Given the description of an element on the screen output the (x, y) to click on. 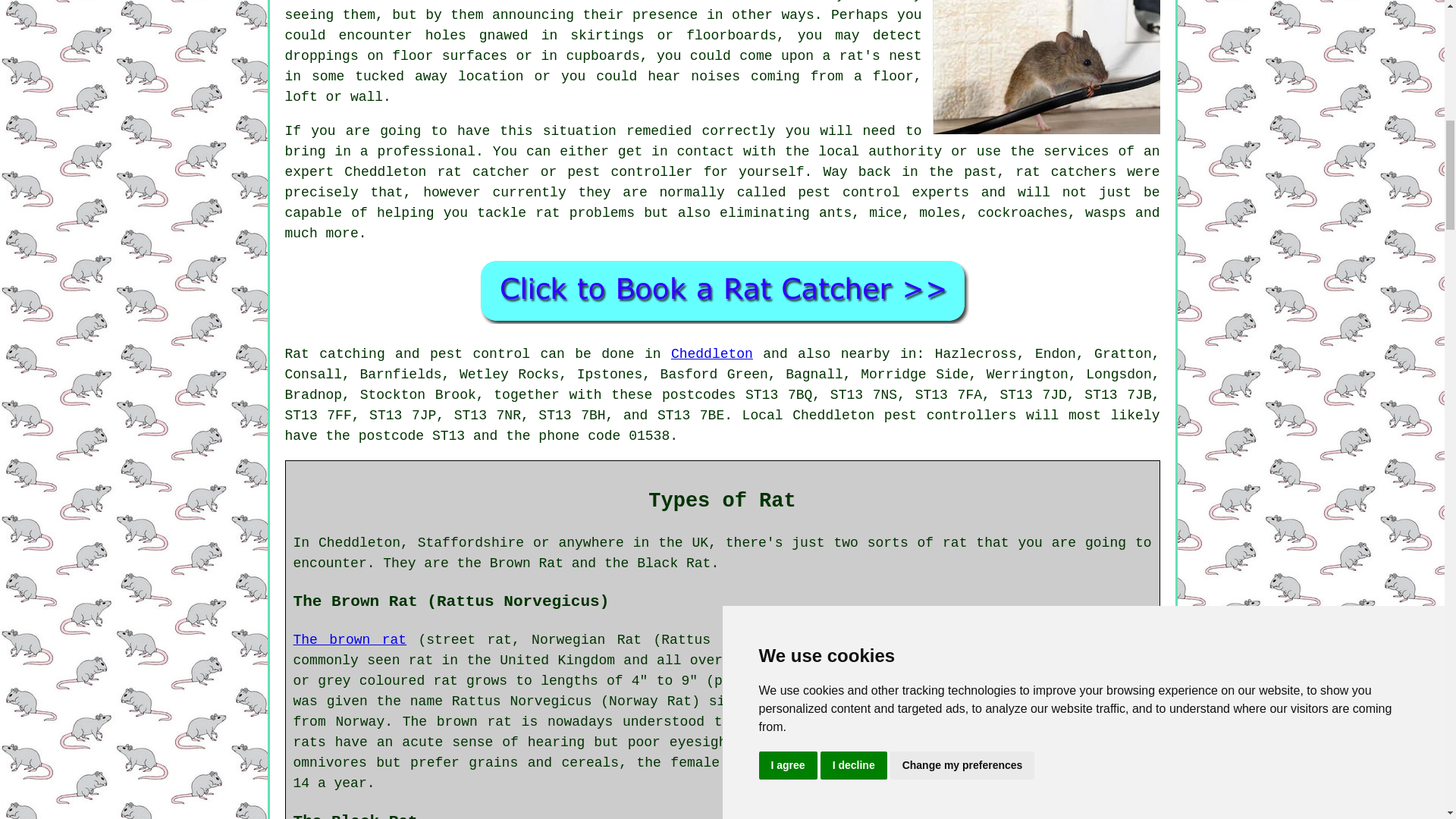
Rat Control Cheddleton Staffordshire (722, 290)
Rat catching (335, 353)
pest controllers (949, 415)
rat catcher (482, 171)
